Given the description of an element on the screen output the (x, y) to click on. 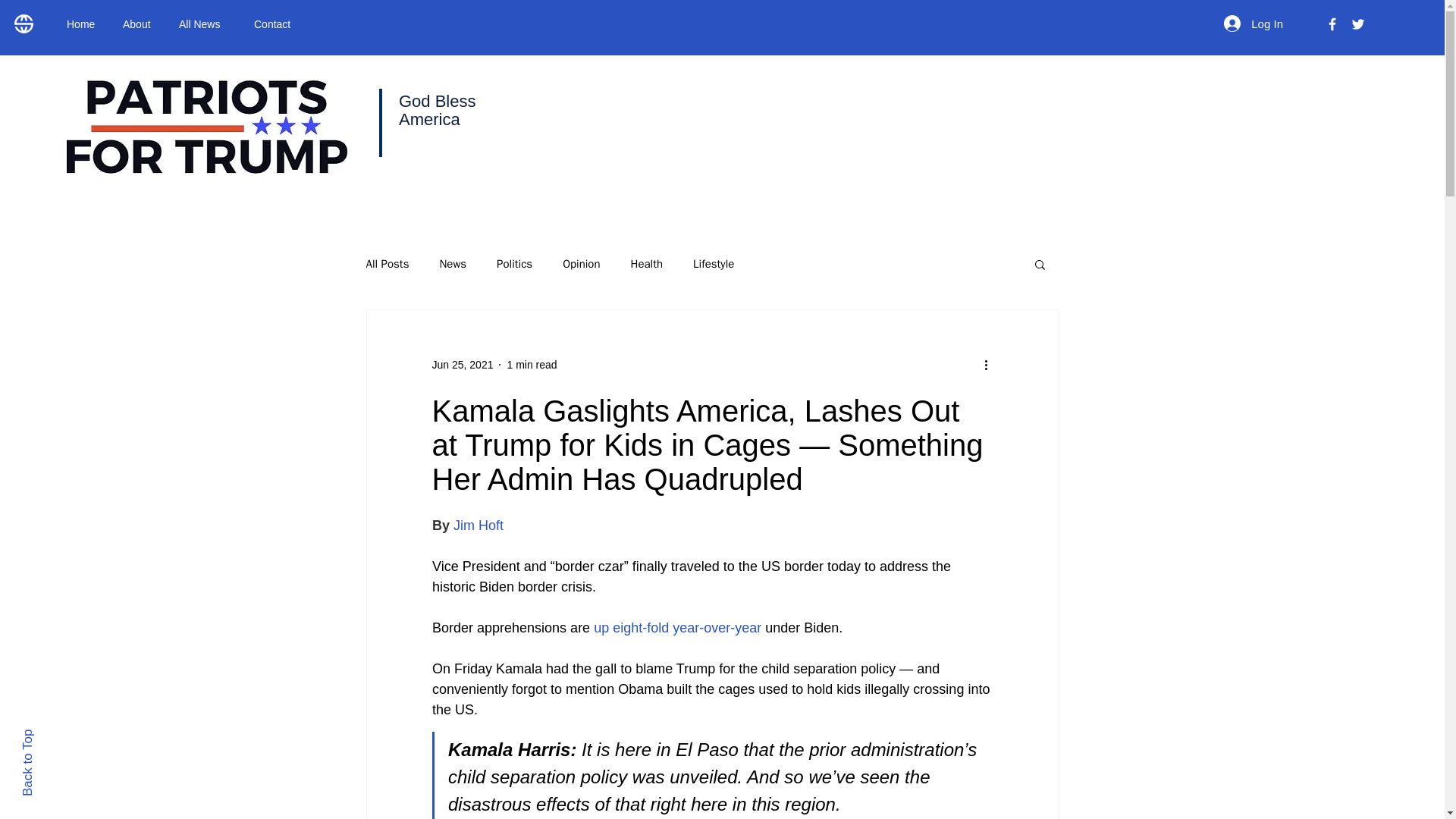
Home (83, 24)
All News (205, 24)
 up eight-fold year-over-year (675, 627)
News (452, 263)
All Posts (387, 263)
Opinion (580, 263)
Jun 25, 2021 (462, 363)
Politics (514, 263)
Back to Top (53, 735)
Contact (276, 24)
